Given the description of an element on the screen output the (x, y) to click on. 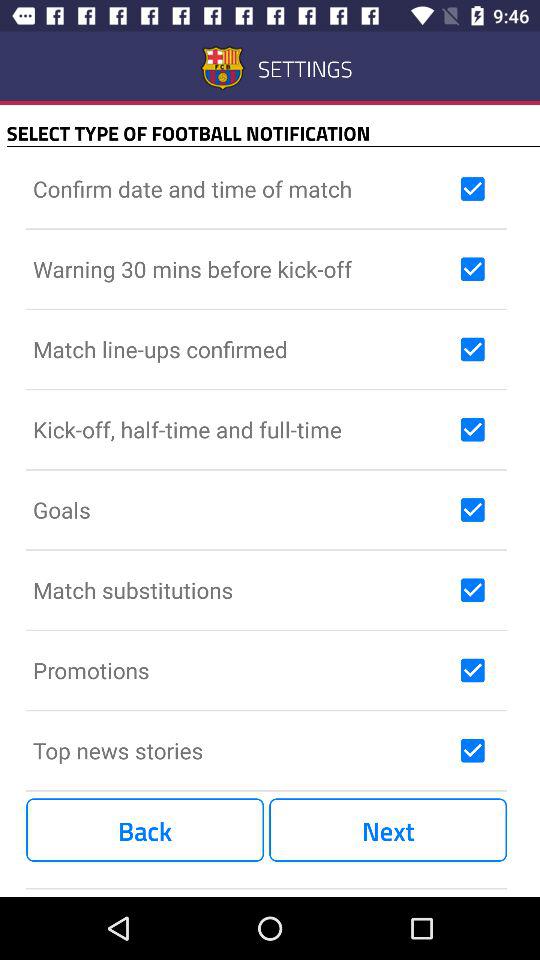
turn on the back icon (145, 829)
